Given the description of an element on the screen output the (x, y) to click on. 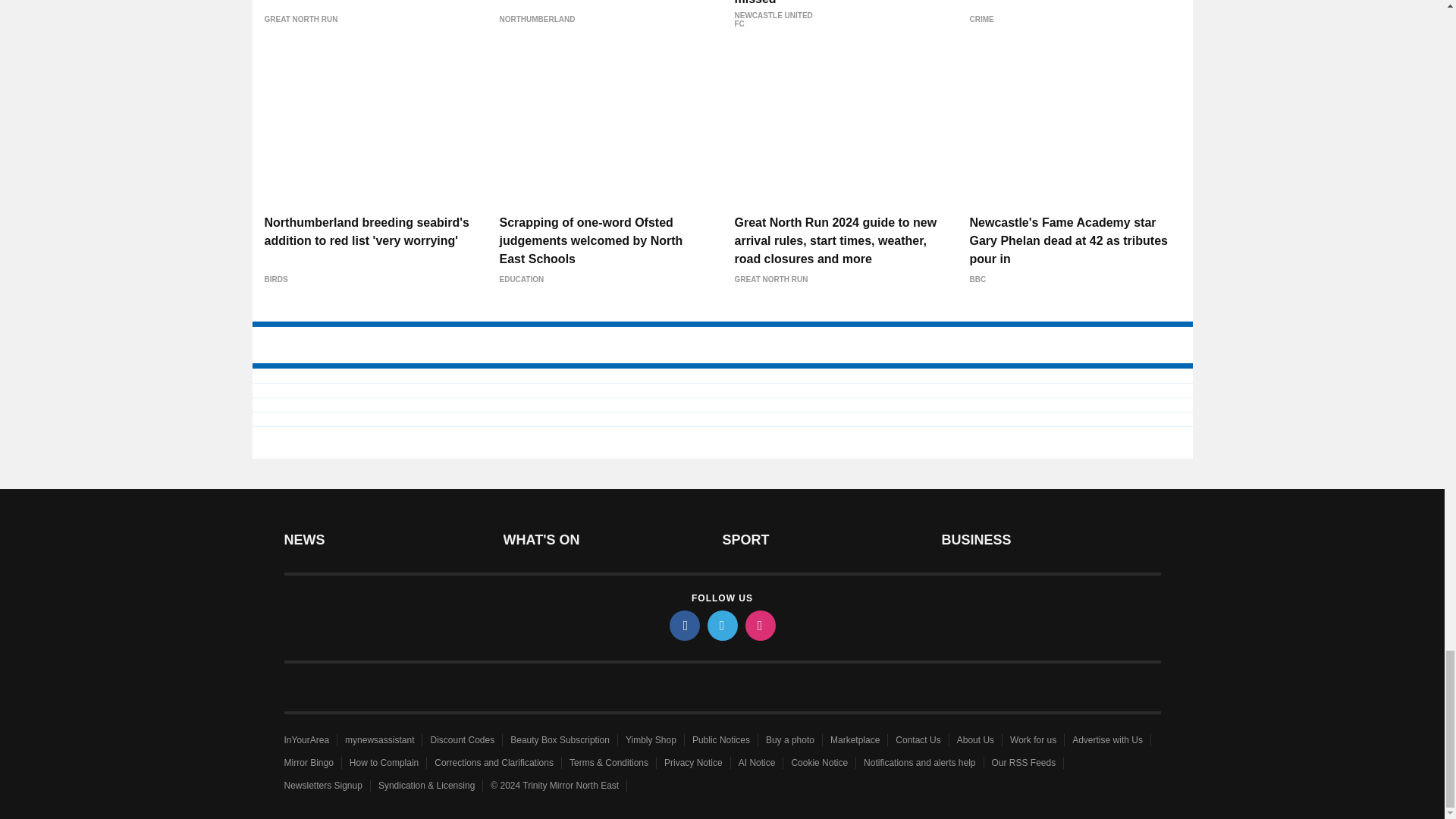
instagram (759, 625)
facebook (683, 625)
twitter (721, 625)
